Given the description of an element on the screen output the (x, y) to click on. 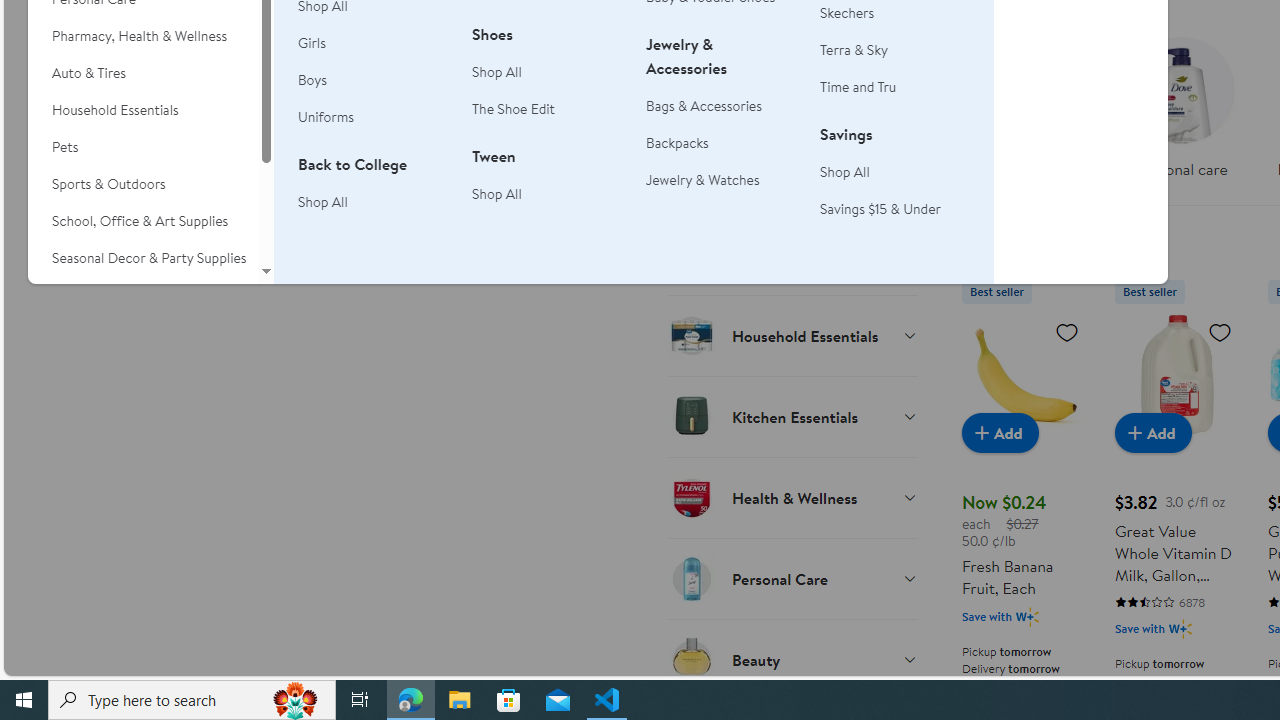
TweenShop All (547, 186)
Kitchen Essentials (792, 416)
Backpacks (677, 142)
Pharmacy, Health & Wellness (143, 36)
Household essentials (1024, 114)
Bags & Accessories (703, 105)
SavingsShop AllSavings $15 & Under (895, 182)
Sports & Outdoors (143, 184)
Girls (312, 43)
Health & Wellness (792, 497)
Beverages (792, 92)
Back to CollegeShop All (373, 193)
Pharmacy, Health & Wellness (143, 36)
